Given the description of an element on the screen output the (x, y) to click on. 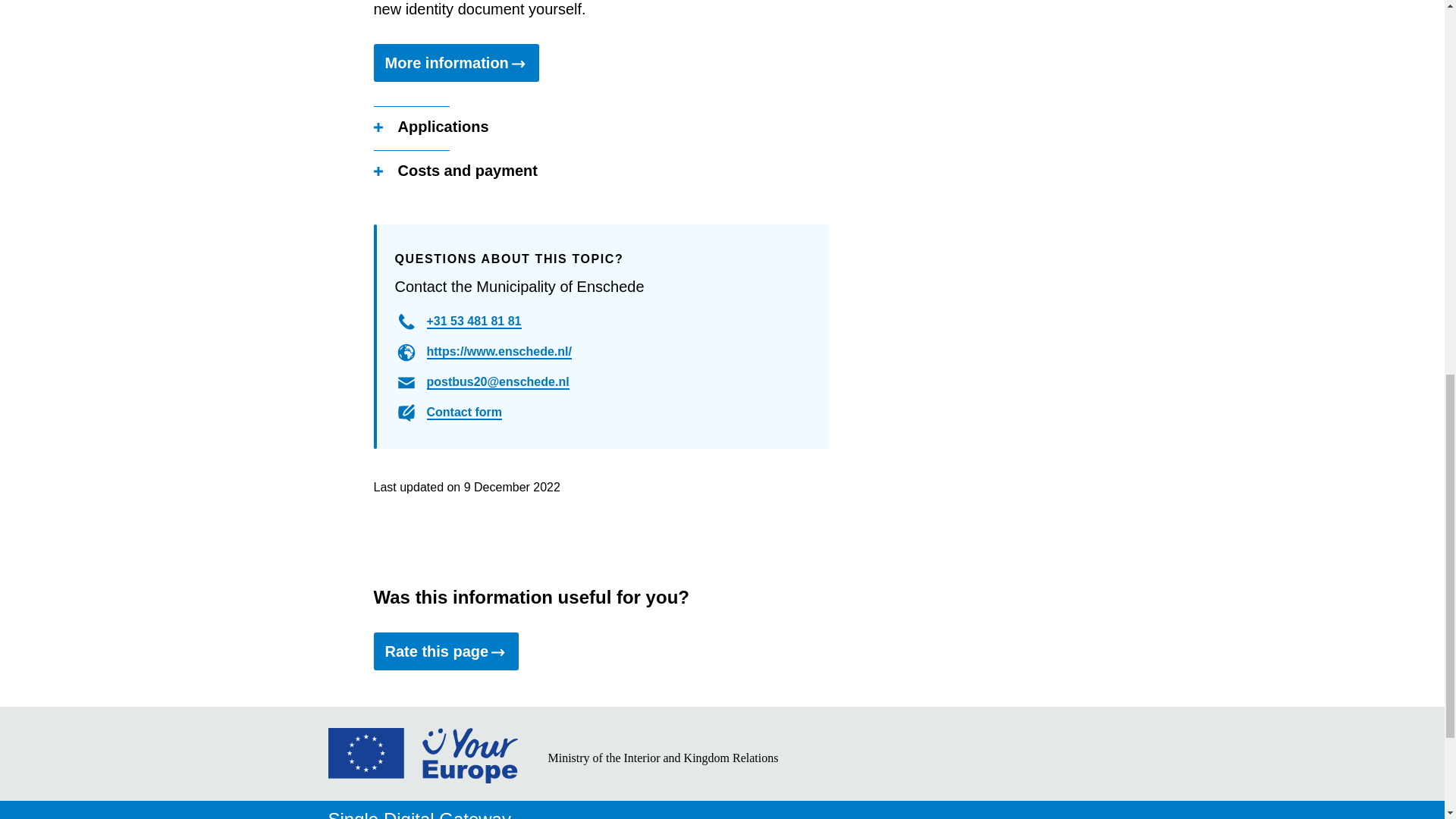
Costs and payment (454, 171)
Rate this page (445, 651)
Go to the European Union's Your Europe portal homepage (421, 777)
Applications (429, 127)
More information (455, 62)
Contact form (464, 412)
